Given the description of an element on the screen output the (x, y) to click on. 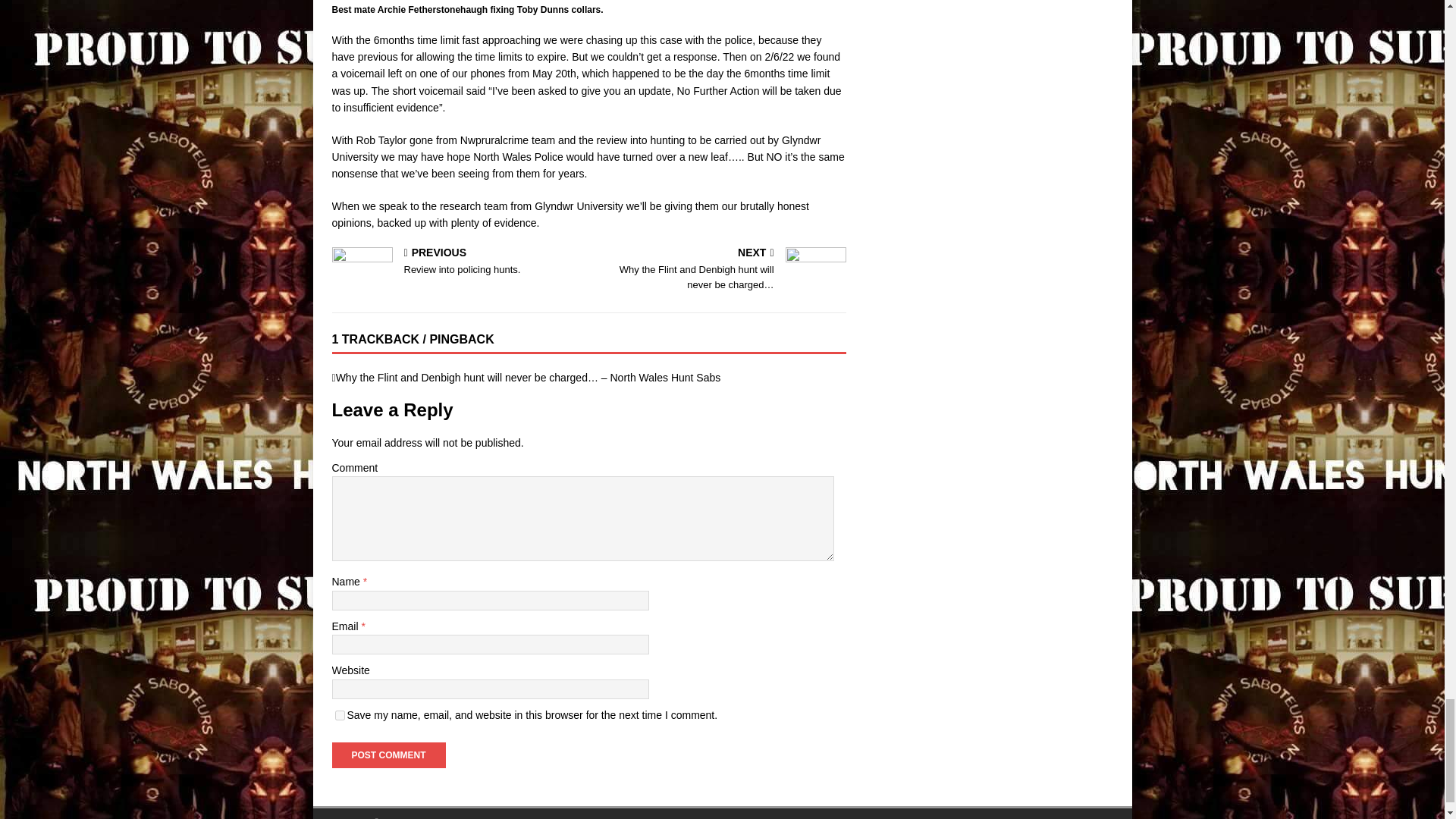
Post Comment (388, 755)
yes (457, 261)
Post Comment (339, 715)
